Given the description of an element on the screen output the (x, y) to click on. 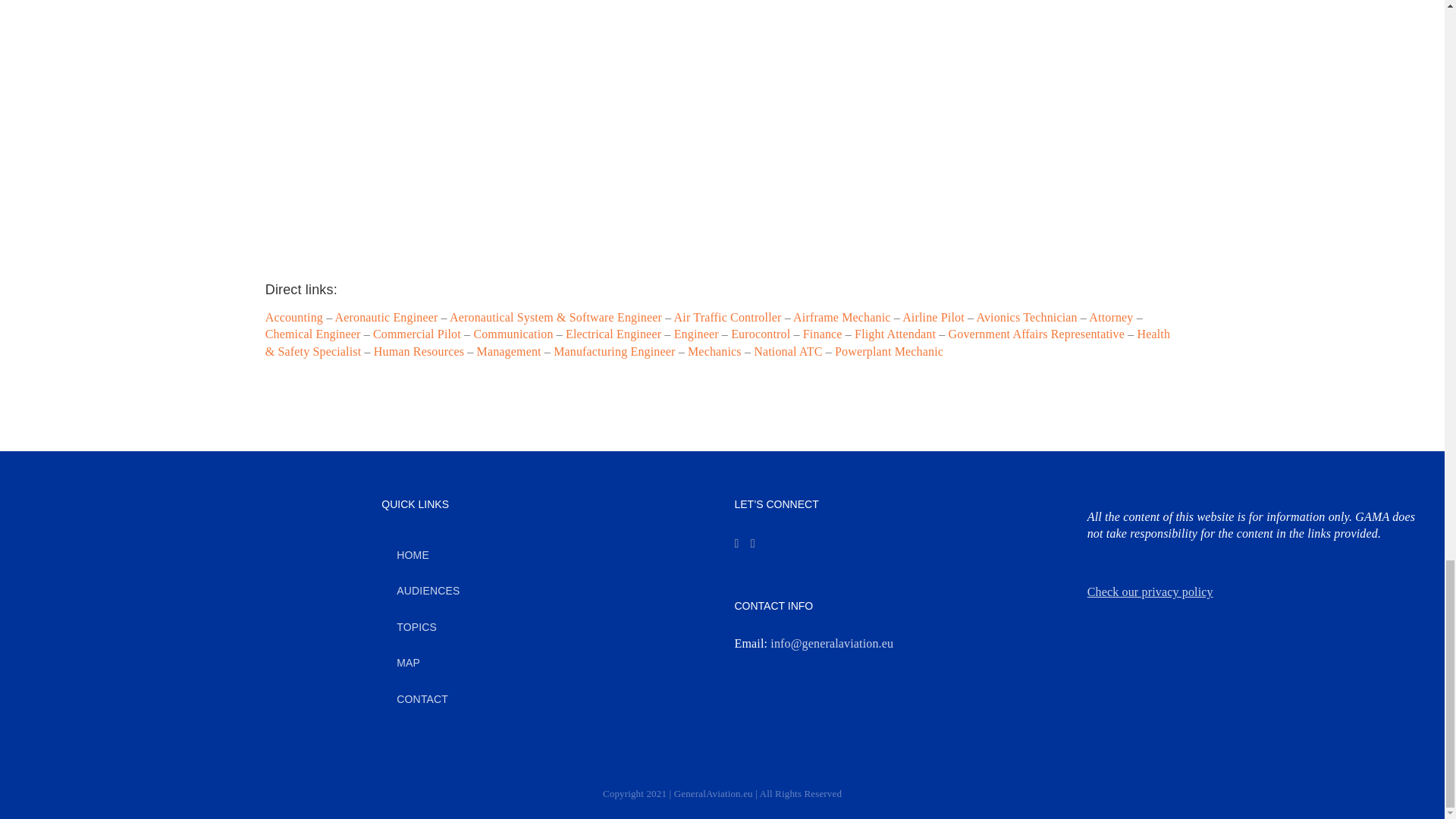
Instagram (735, 543)
LinkedIn (753, 543)
